Given the description of an element on the screen output the (x, y) to click on. 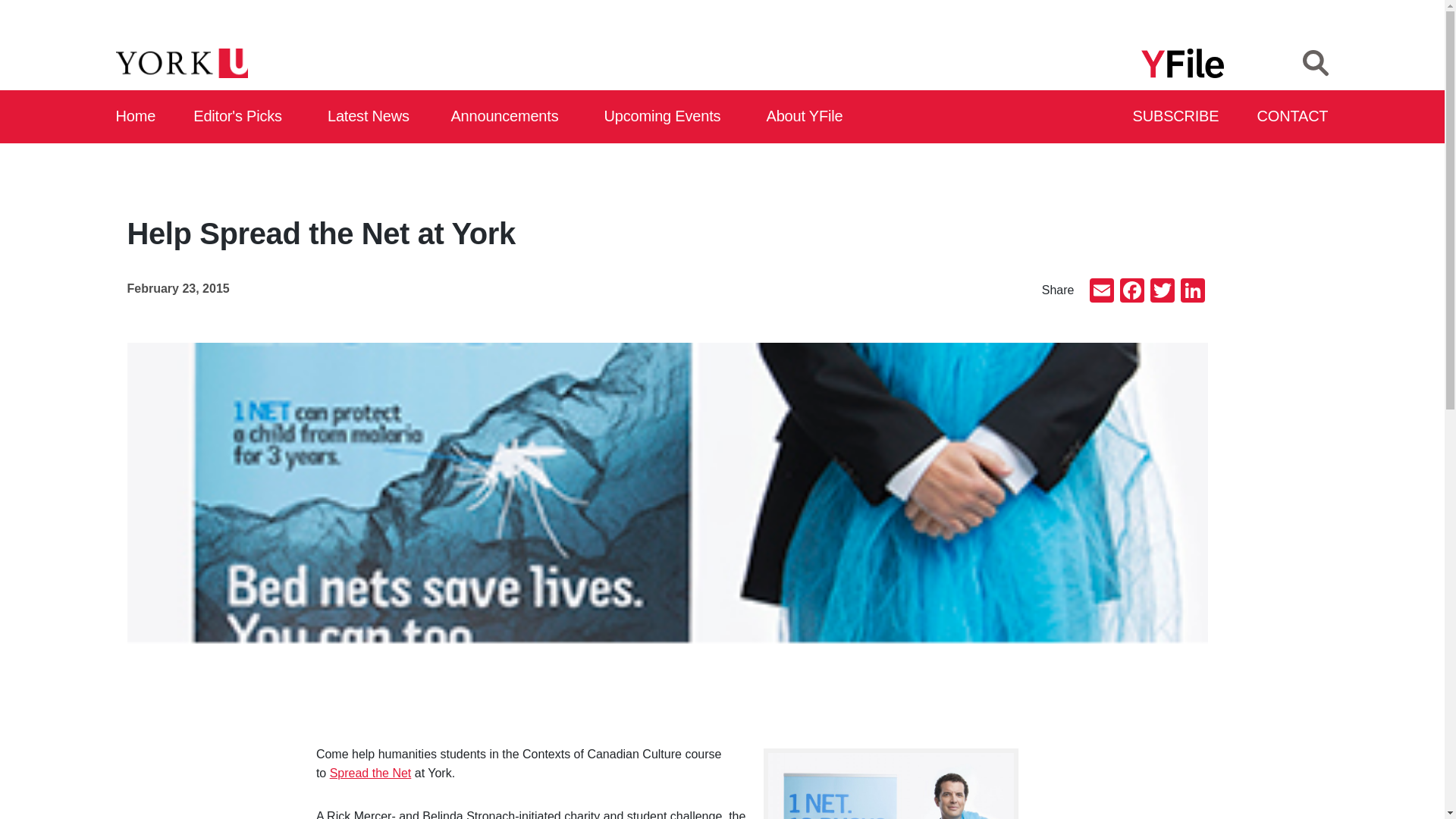
SUBSCRIBE (1176, 116)
Email (1101, 292)
Latest News (370, 116)
Home (136, 116)
Twitter (1161, 292)
About YFile (806, 116)
About YFile (806, 116)
Facebook (1131, 292)
LinkedIn (1191, 292)
Home (136, 116)
